Given the description of an element on the screen output the (x, y) to click on. 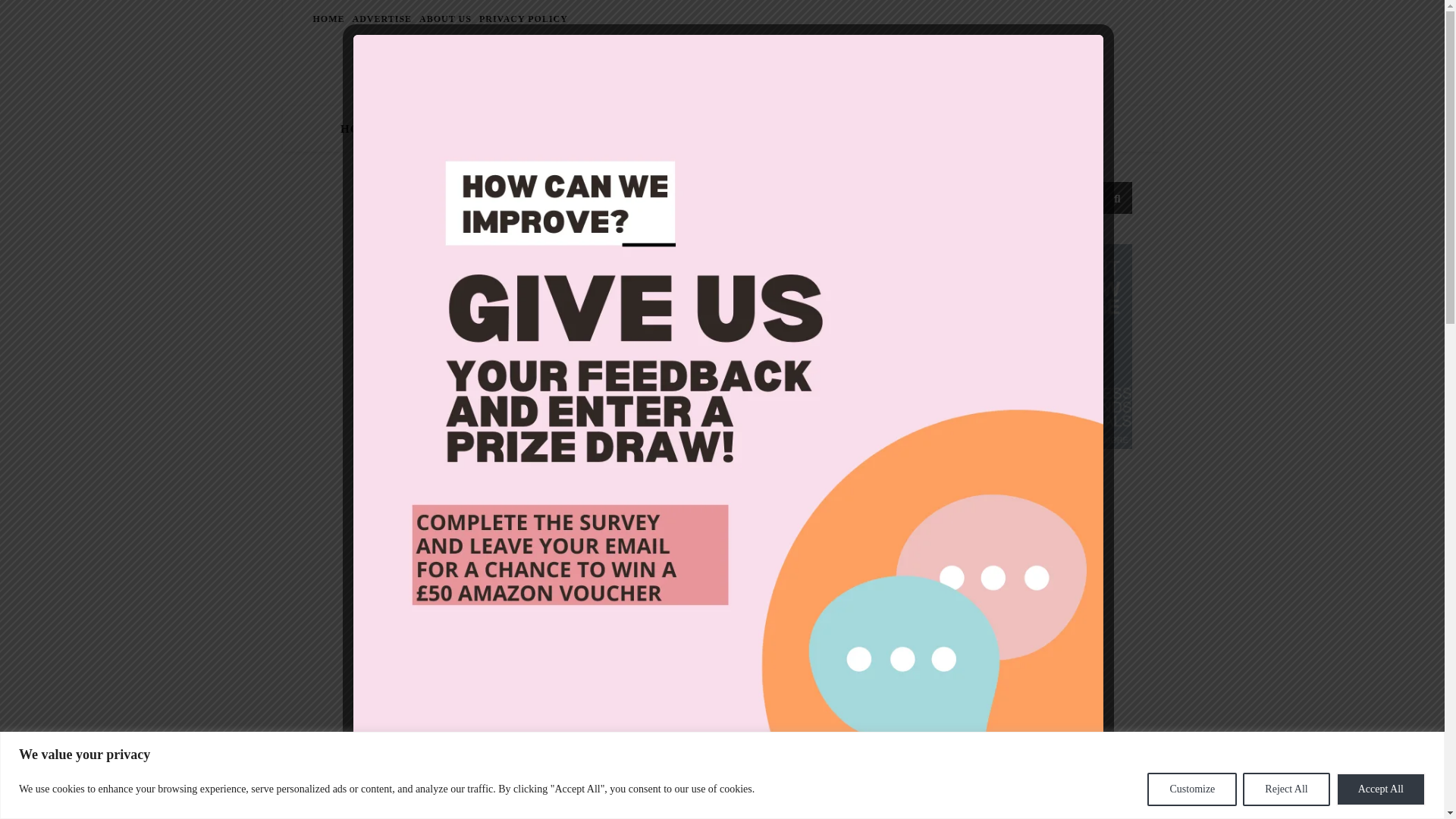
PRODUCT NEWS (601, 128)
HOME (330, 18)
Customize (1191, 788)
HOME (365, 128)
ADVERTISE (382, 18)
SPONSORED CONTENT (834, 128)
Accept All (1380, 788)
The Canine Times (721, 68)
Close (1088, 796)
OPINION (711, 128)
INDUSTRY NEWS (462, 128)
DIRECTORY (973, 128)
Reject All (1286, 788)
PRIVACY POLICY (521, 18)
ABOUT US (445, 18)
